Given the description of an element on the screen output the (x, y) to click on. 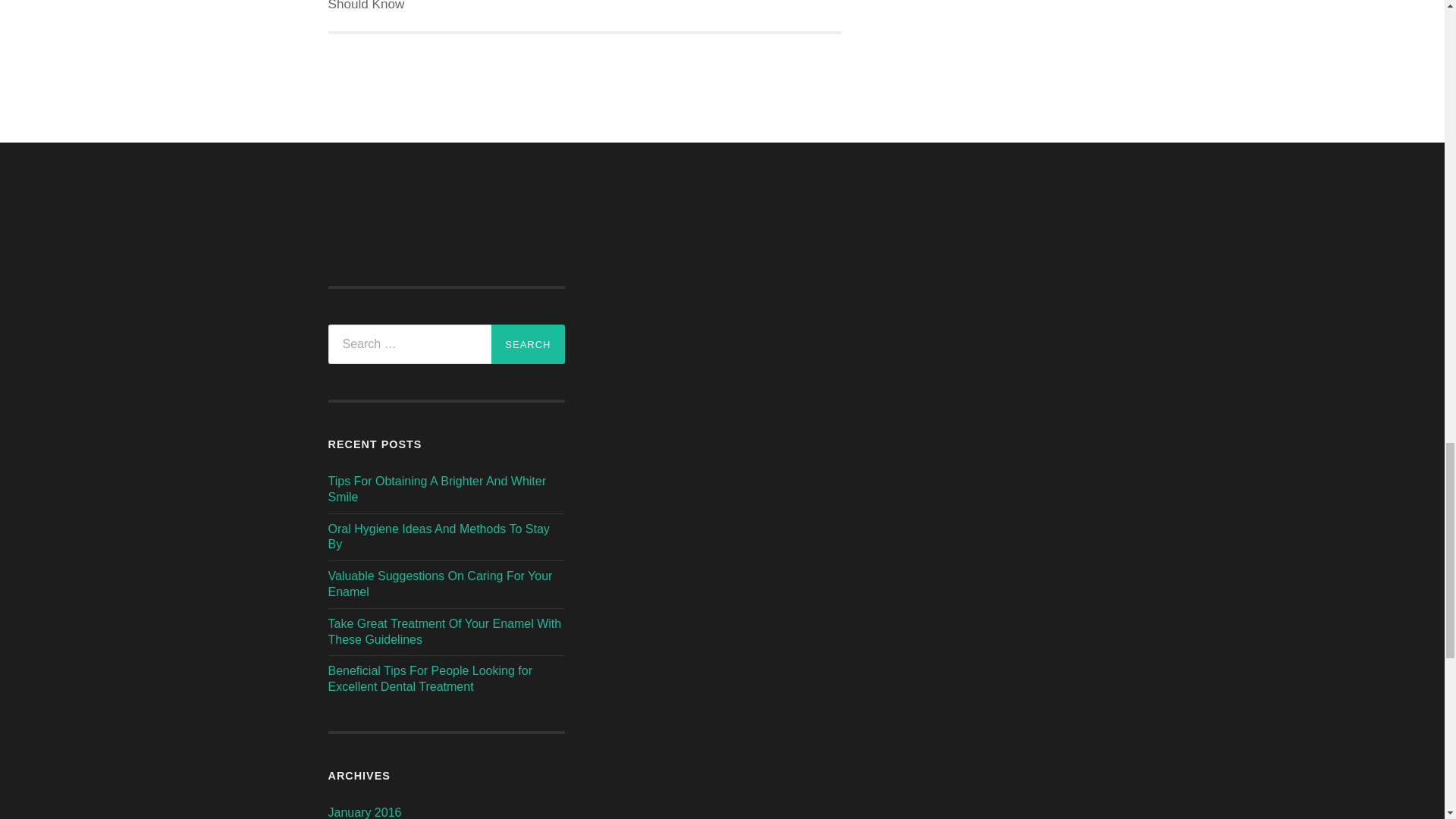
Search (528, 343)
Valuable Suggestions On Caring For Your Enamel (439, 583)
Tips For Obtaining A Brighter And Whiter Smile (436, 489)
January 2016 (364, 812)
Oral Hygiene Ideas And Methods To Stay By (437, 536)
Take Great Treatment Of Your Enamel With These Guidelines (443, 631)
Search (735, 7)
Search (528, 343)
